Given the description of an element on the screen output the (x, y) to click on. 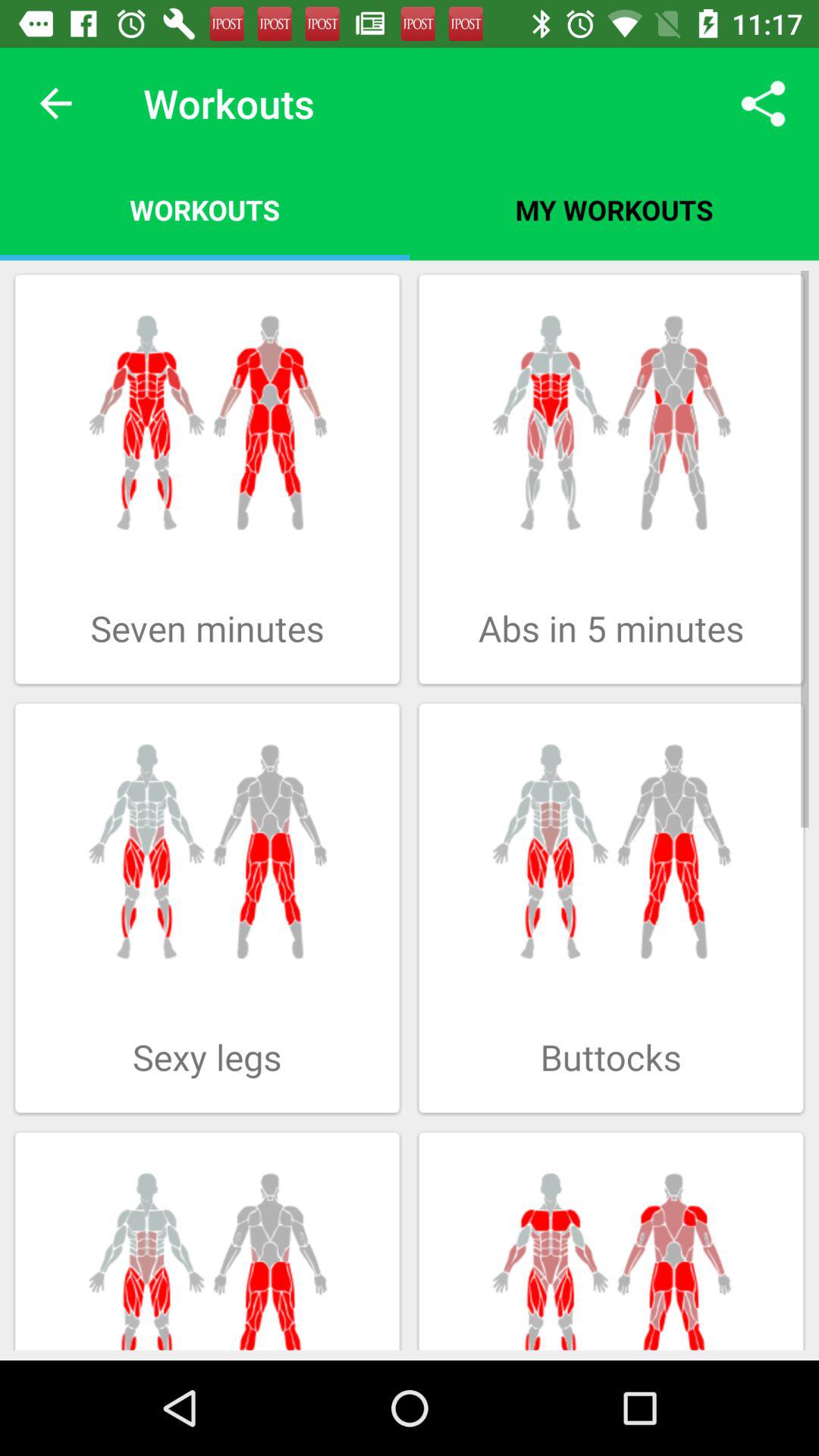
tap app next to the workouts (55, 103)
